Given the description of an element on the screen output the (x, y) to click on. 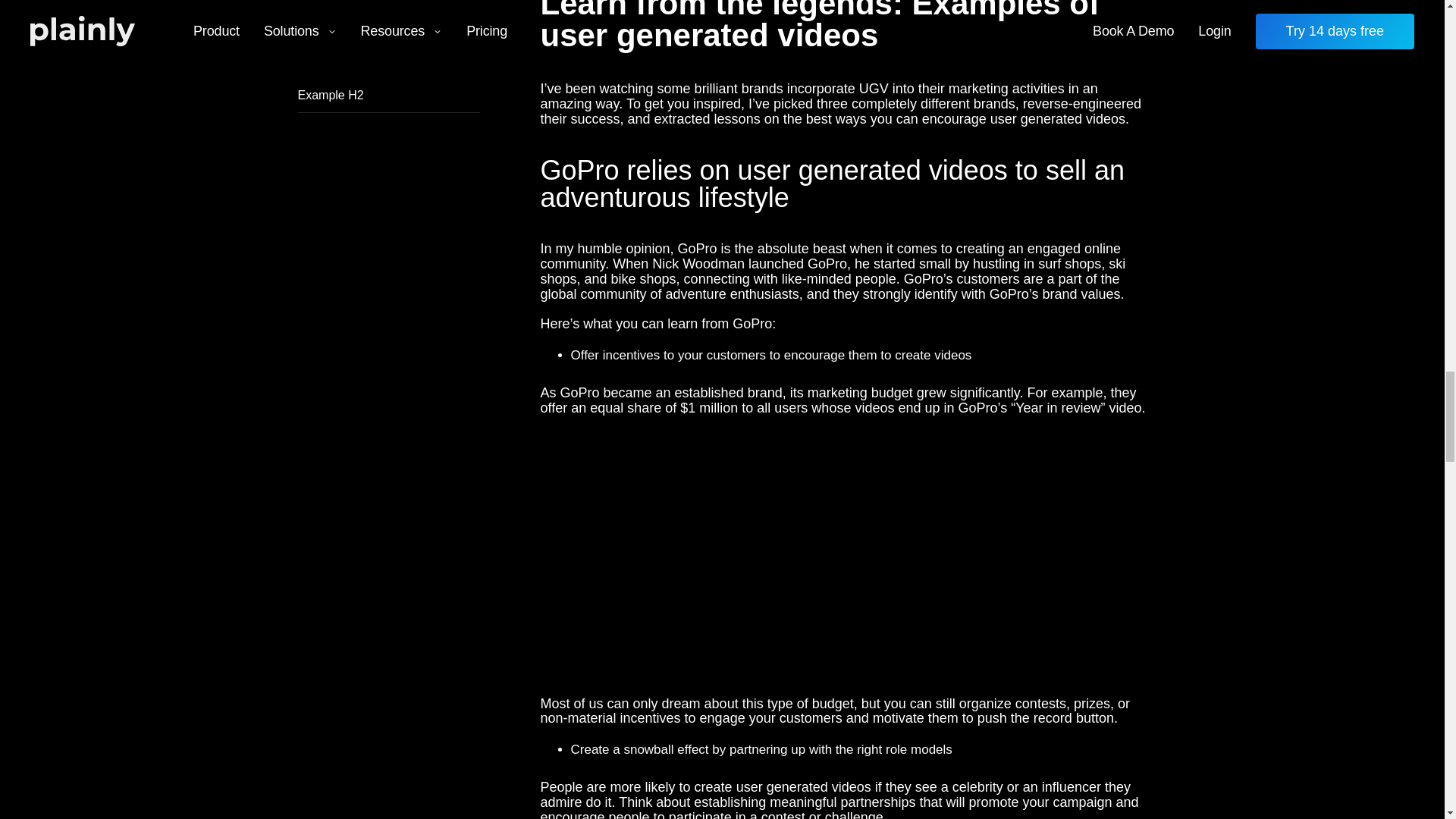
GoPro: Best of 2021 - Year in Review (843, 556)
